Given the description of an element on the screen output the (x, y) to click on. 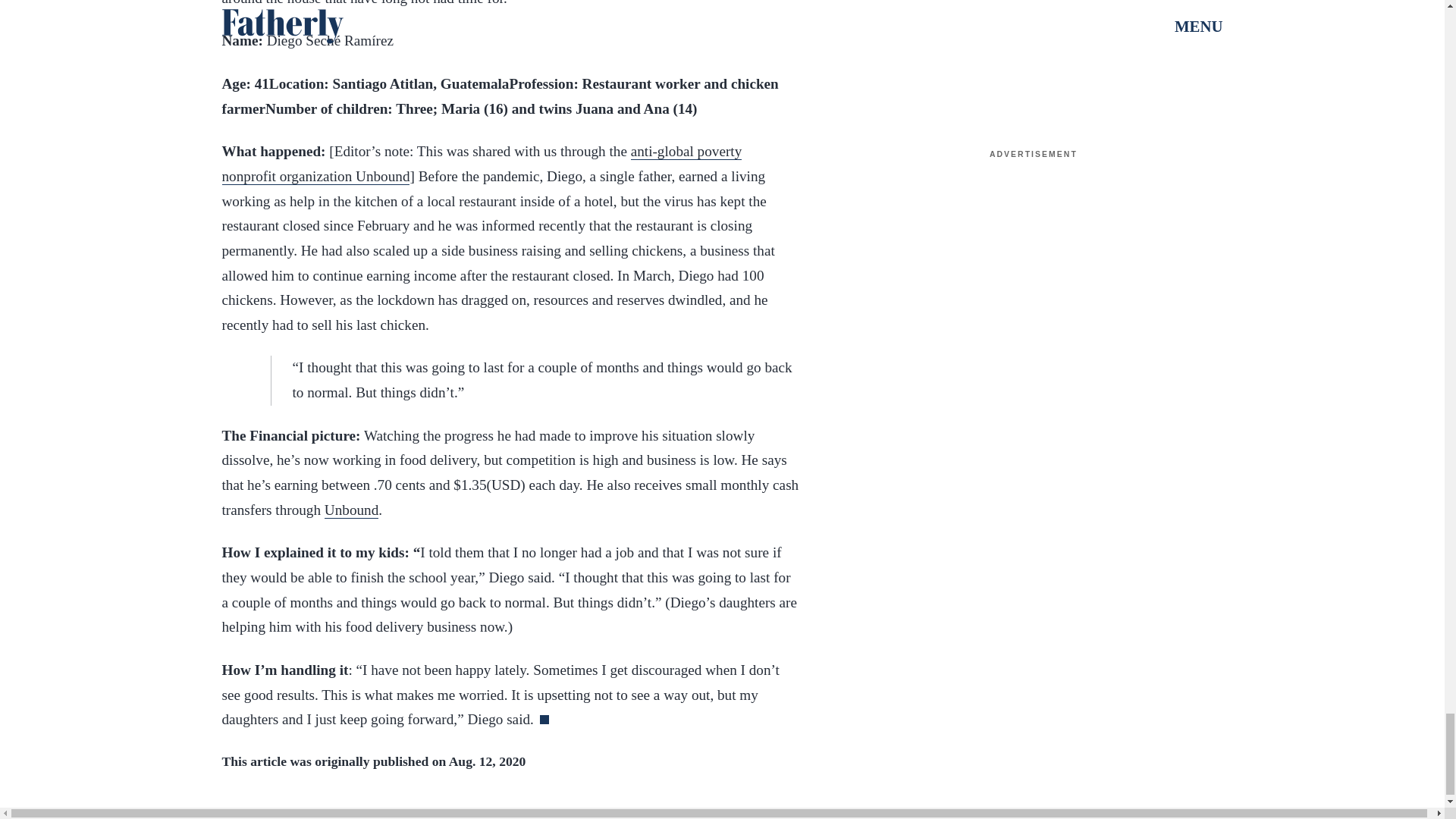
anti-global poverty nonprofit organization Unbound (481, 164)
Unbound (351, 510)
